Given the description of an element on the screen output the (x, y) to click on. 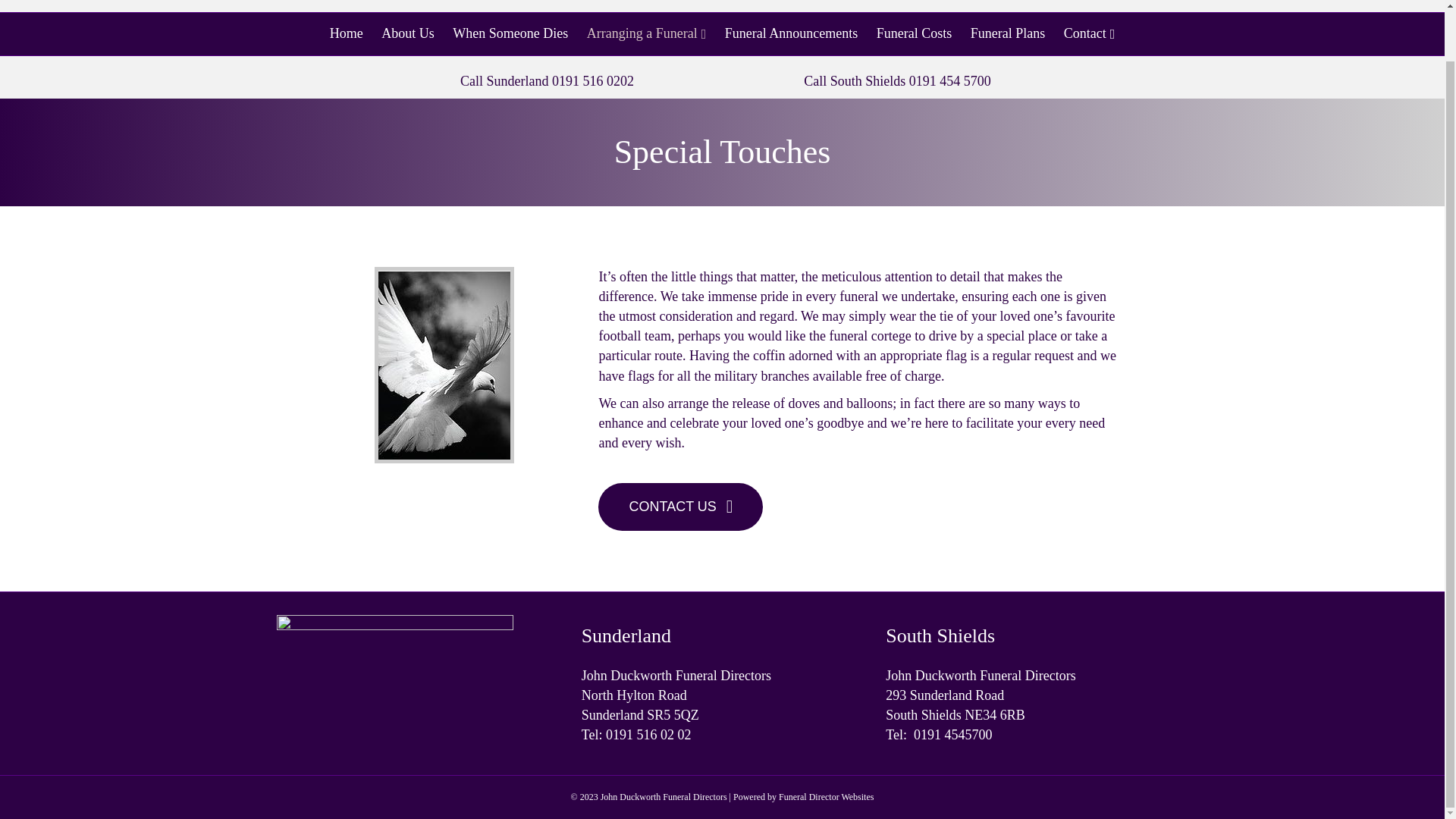
Call South Shields 0191 454 5700 (897, 80)
When Someone Dies (510, 33)
Arranging a Funeral (646, 34)
Funeral Announcements (790, 33)
Call Sunderland 0191 516 0202 (546, 80)
CONTACT US (680, 506)
Home (346, 33)
Funeral Costs (914, 33)
Funeral Plans (1007, 33)
About Us (408, 33)
